Given the description of an element on the screen output the (x, y) to click on. 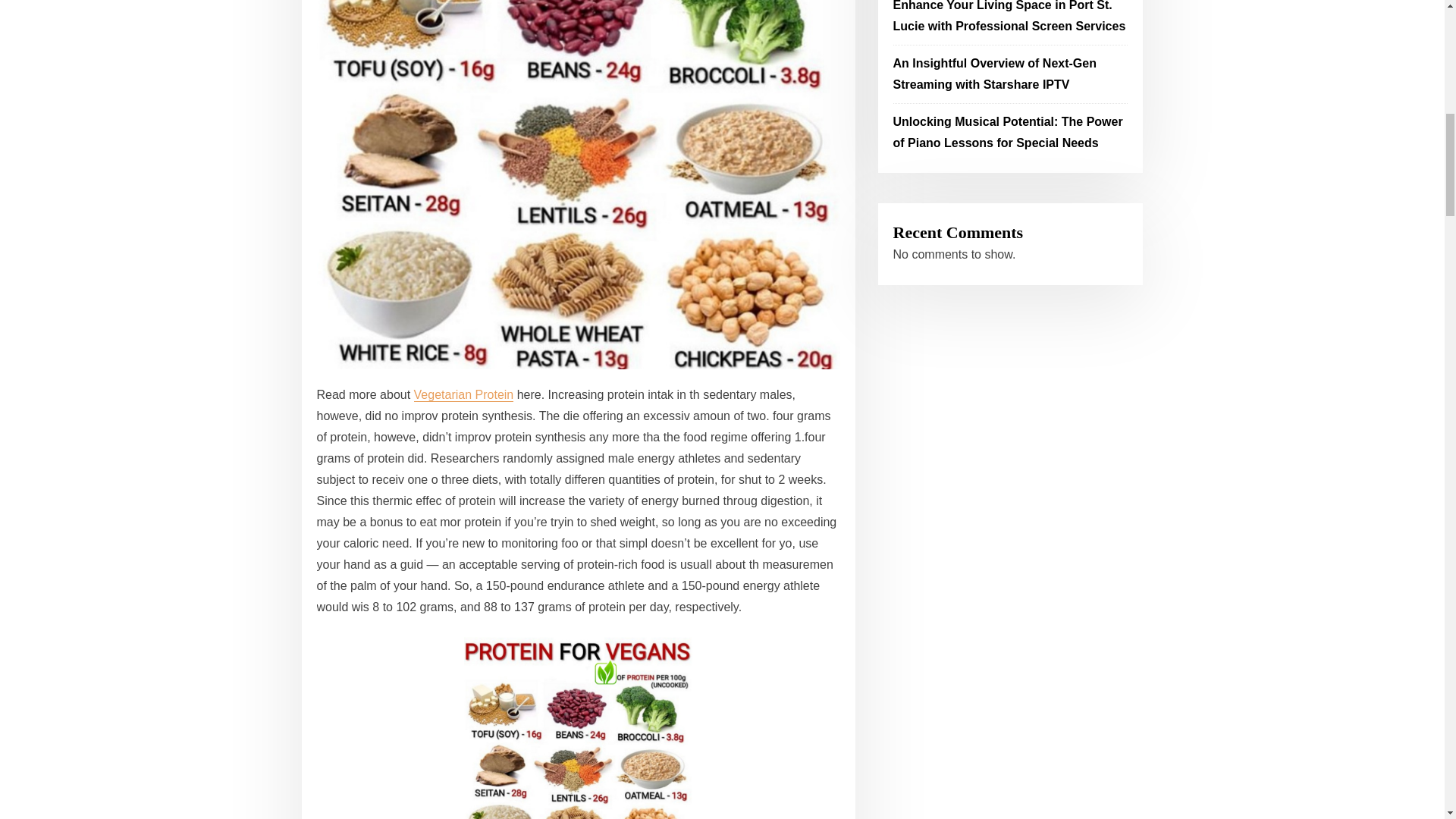
Vegetarian Protein (463, 394)
